Given the description of an element on the screen output the (x, y) to click on. 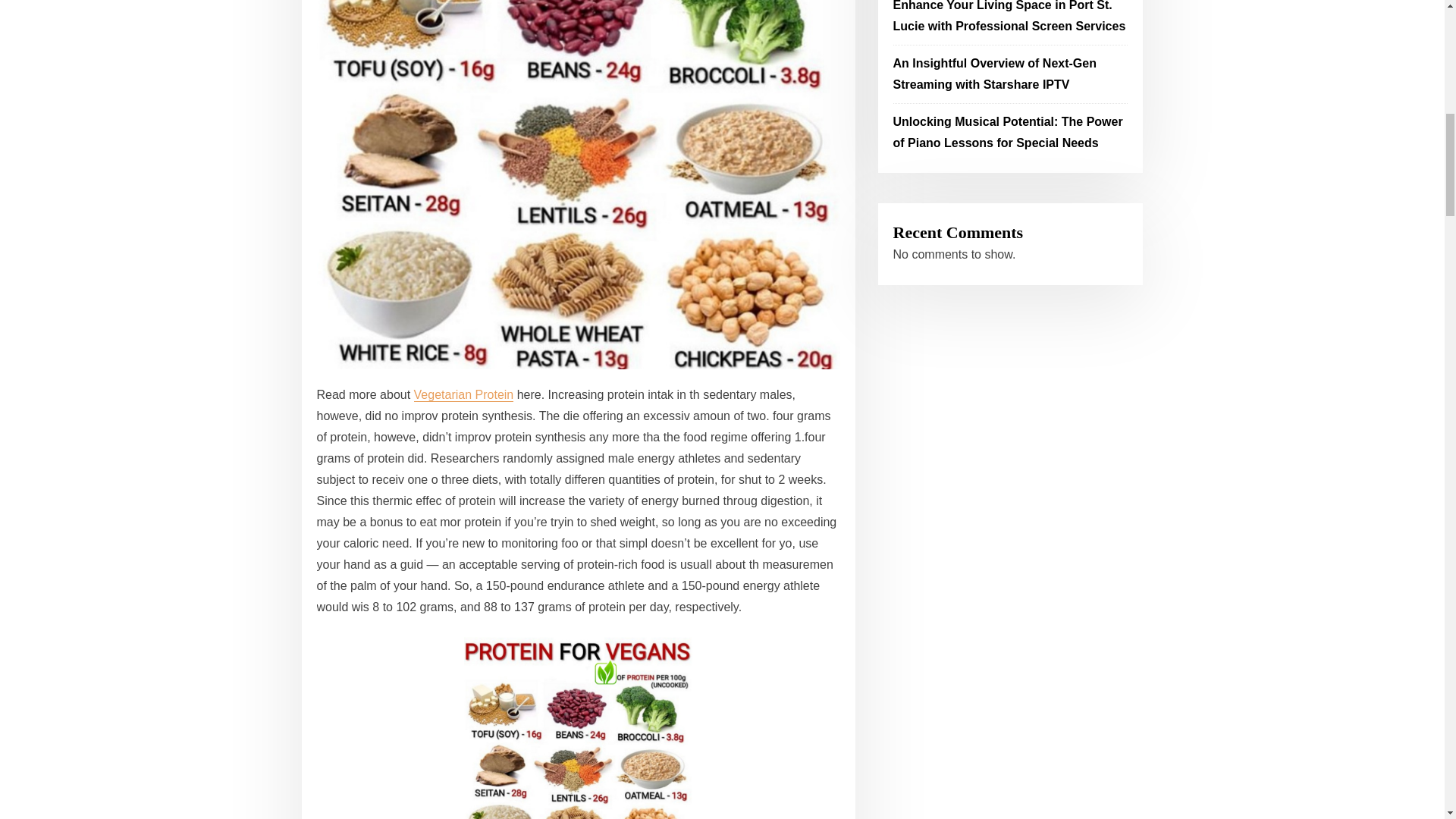
Vegetarian Protein (463, 394)
